Given the description of an element on the screen output the (x, y) to click on. 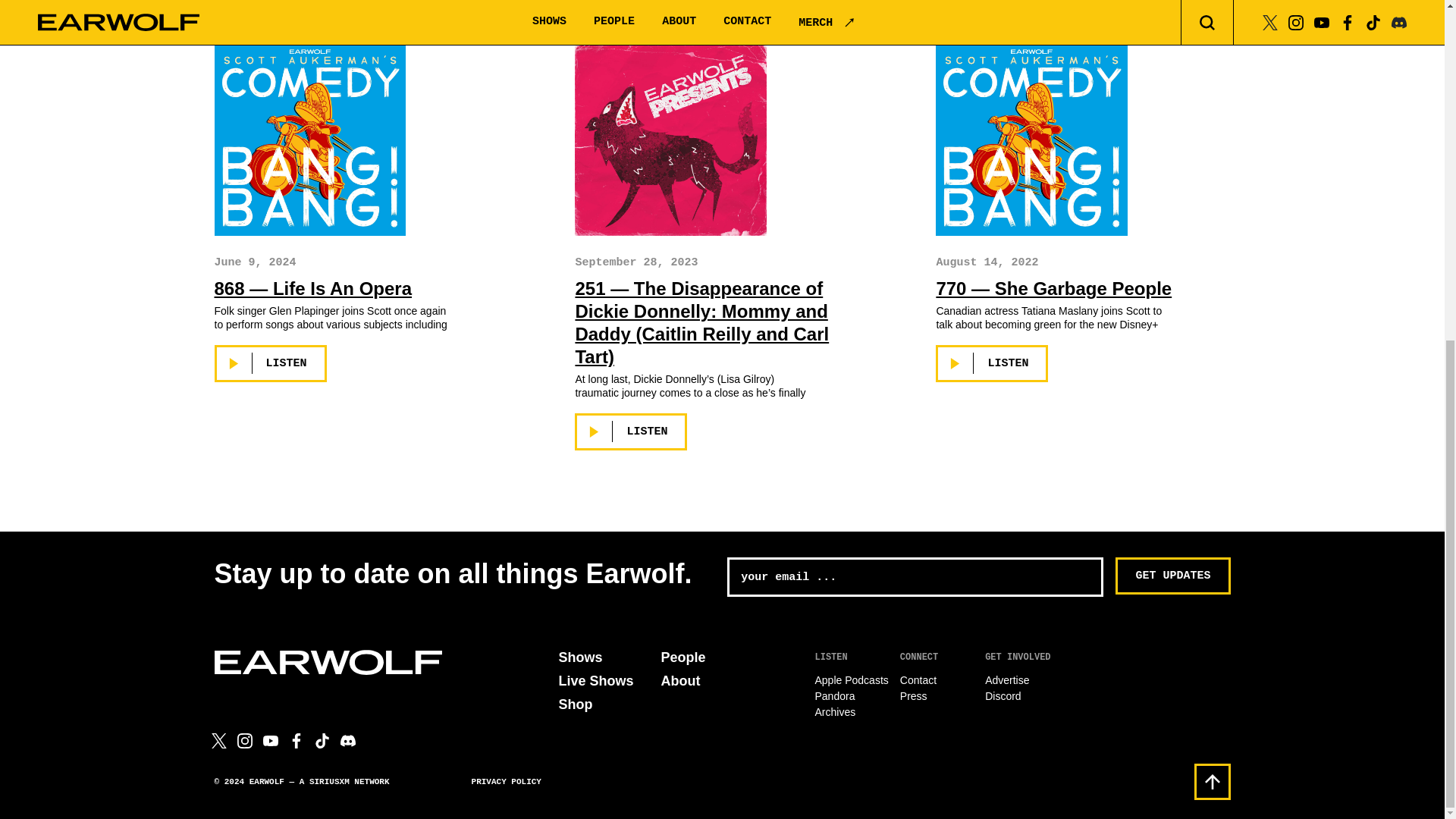
Earwolf (327, 662)
LISTEN (631, 431)
LISTEN (992, 363)
Live Shows (595, 680)
Shop (574, 703)
Get Updates (1172, 575)
LISTEN (270, 363)
Shows (579, 657)
People (683, 657)
Get Updates (1172, 575)
About (680, 680)
Instagram (243, 740)
